Given the description of an element on the screen output the (x, y) to click on. 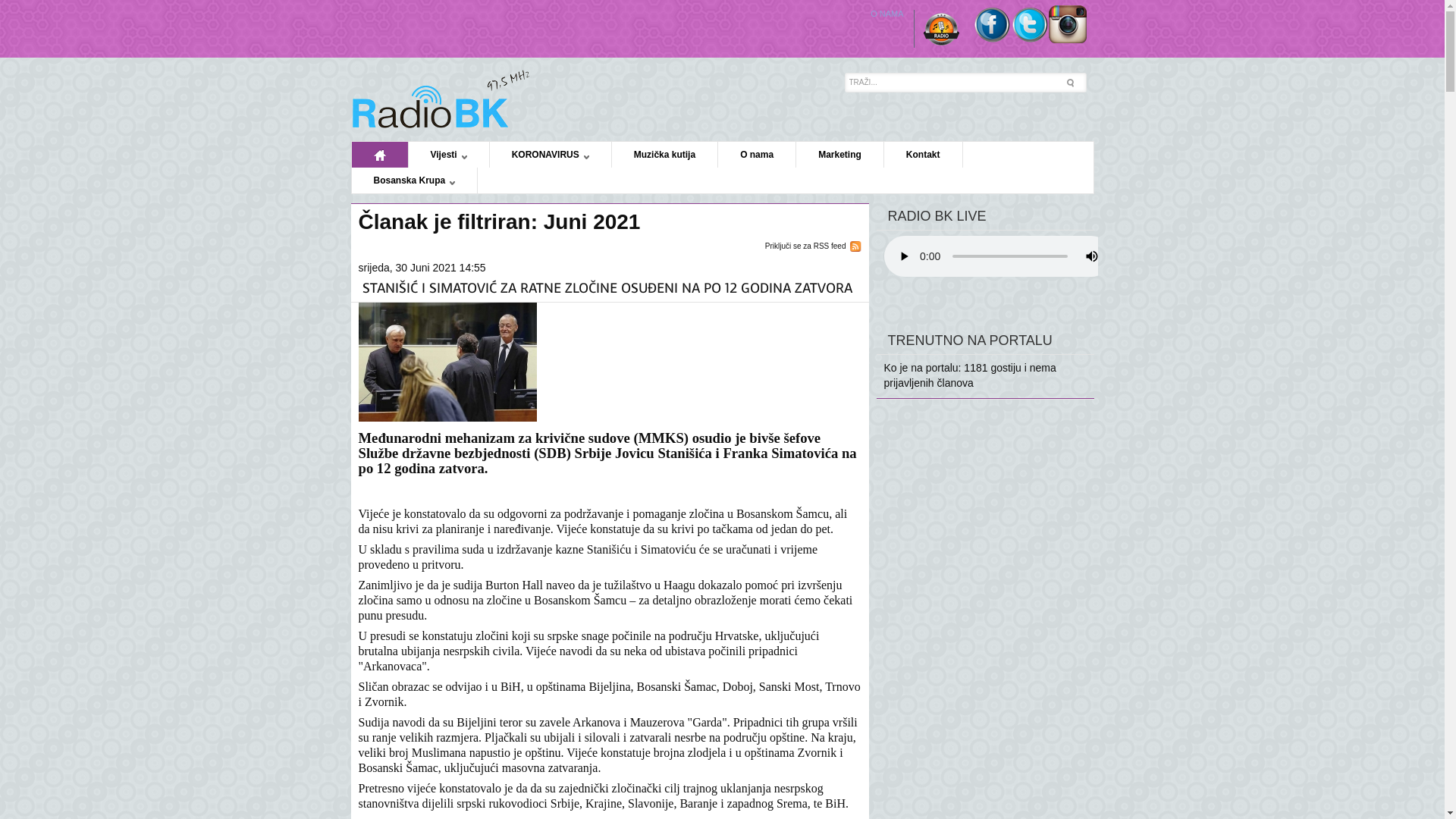
JP  Element type: hover (441, 99)
instagram Element type: hover (1066, 39)
Naslovna Element type: text (379, 154)
O NAMA Element type: text (887, 13)
Marketing Element type: text (840, 154)
Bosanska Krupa Element type: text (414, 180)
Twitter Element type: hover (1029, 39)
Kontakt Element type: text (923, 154)
Vijesti Element type: text (448, 154)
KORONAVIRUS Element type: text (550, 154)
O nama Element type: text (757, 154)
FB Element type: hover (991, 39)
